Given the description of an element on the screen output the (x, y) to click on. 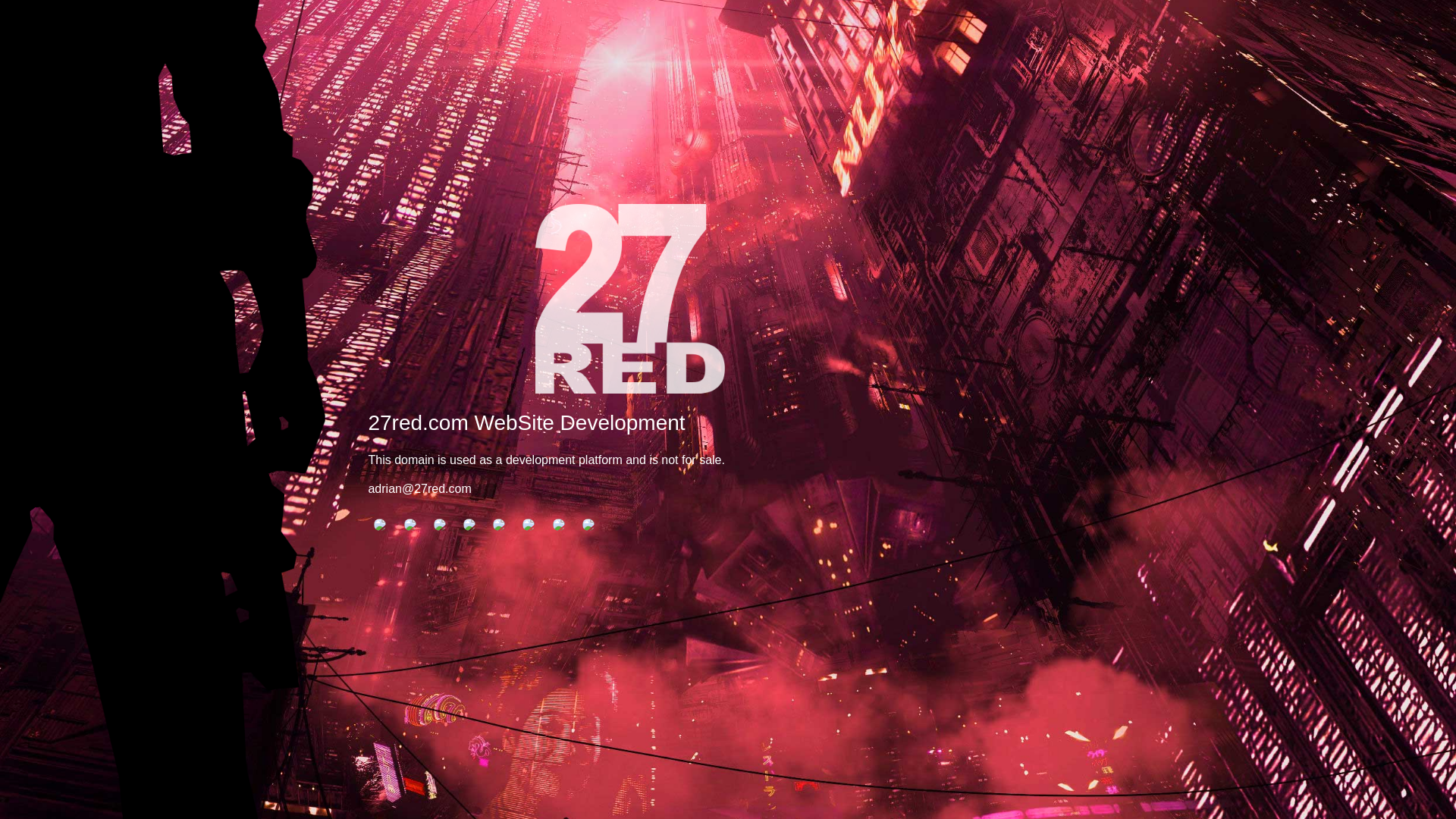
Dean Bowen Element type: hover (469, 523)
StudioMauriks Element type: hover (410, 523)
adrian@27red.com Element type: text (418, 488)
27 Zero Element type: hover (558, 523)
27 Red Element type: hover (588, 523)
Student Sculpture Server 1996 Element type: hover (528, 523)
Elwyn Dennis Element type: hover (379, 523)
Wes Placek Element type: hover (439, 523)
Geoffrey Bartlett Element type: hover (498, 523)
27red.com WebSite Development. Element type: hover (629, 298)
